Given the description of an element on the screen output the (x, y) to click on. 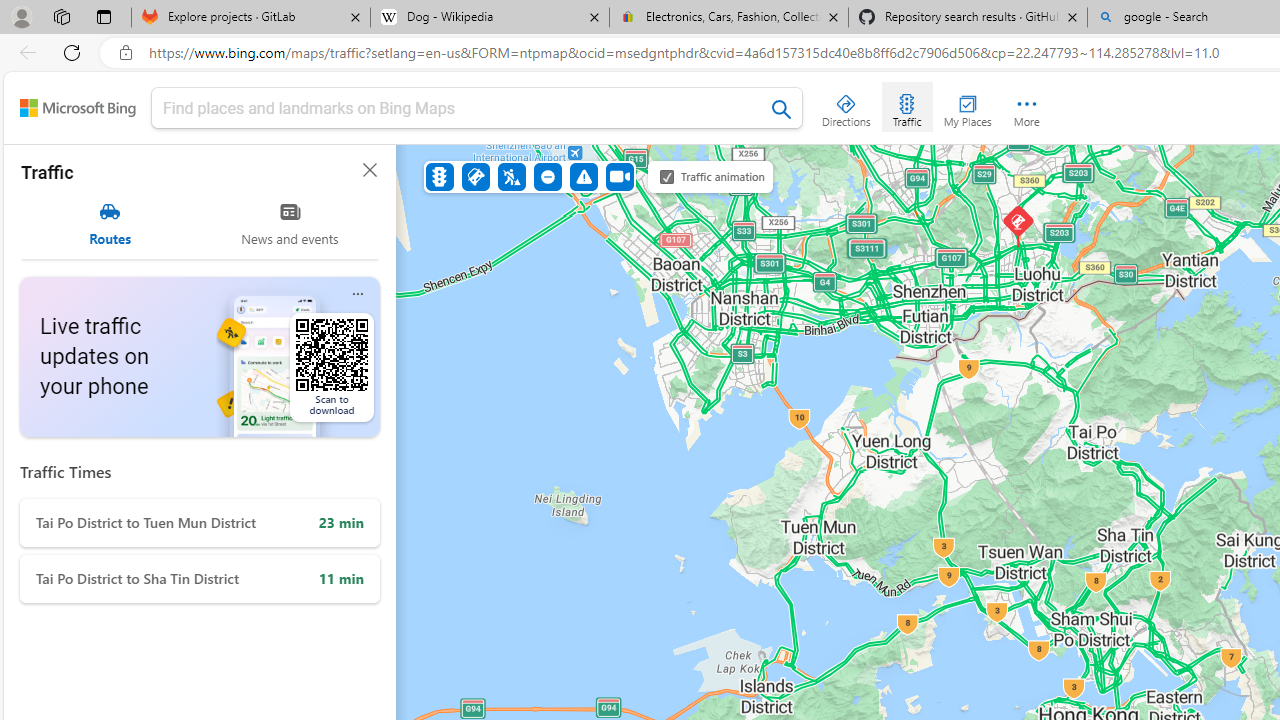
News and events (290, 223)
More (1026, 106)
Traffic (440, 176)
Traffic (906, 106)
Cameras (619, 176)
Tai Po District to Tuen Mun District (200, 522)
Class: sbElement (77, 107)
My Places (967, 106)
Miscellaneous incidents (583, 176)
Tai Po District to Sha Tin District (200, 579)
